Given the description of an element on the screen output the (x, y) to click on. 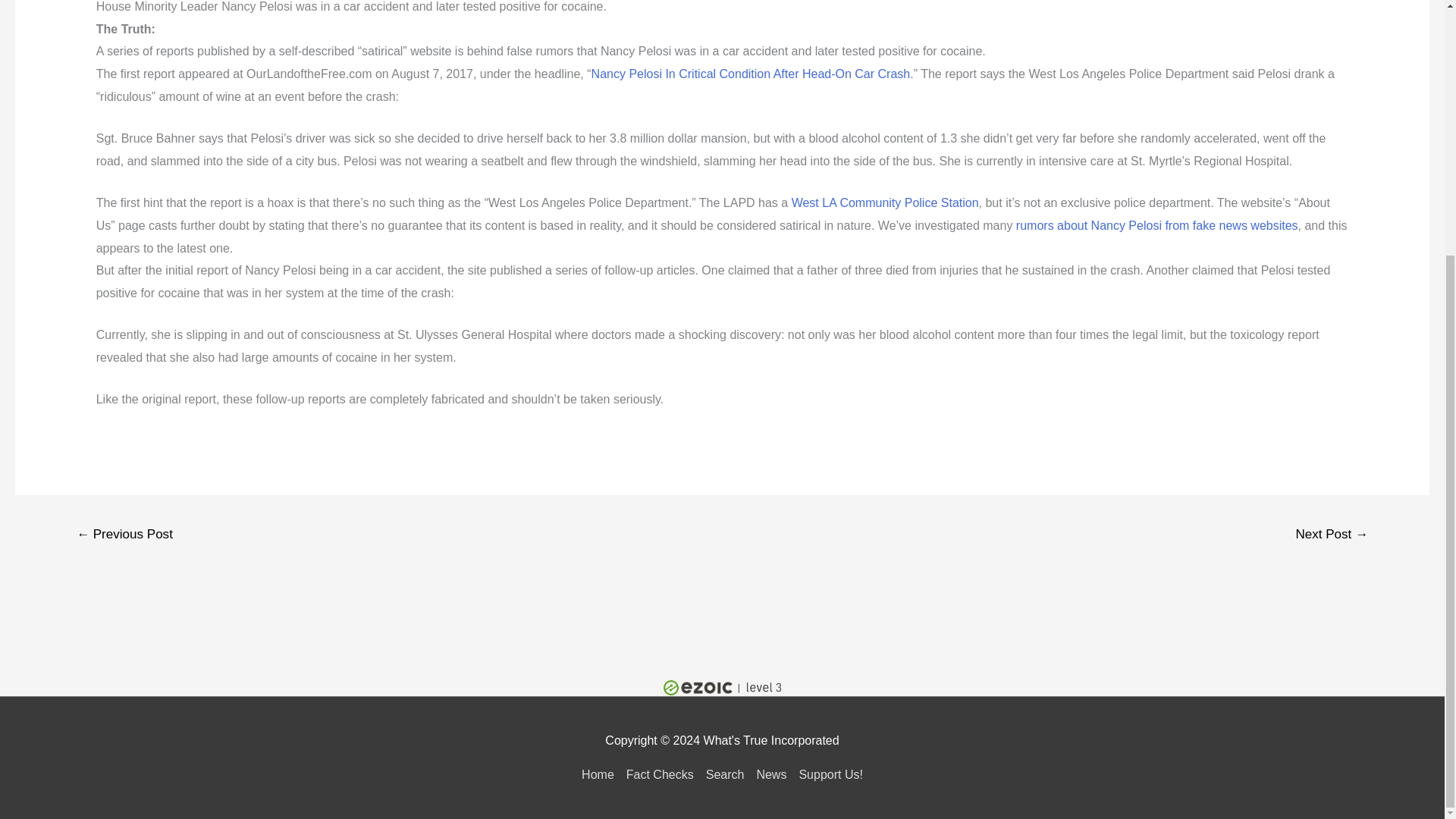
Fact Checks (660, 774)
Search (725, 774)
Nancy Pelosi In Critical Condition After Head-On Car Crash (751, 73)
Home (600, 774)
West LA Community Police Station (885, 202)
rumors about Nancy Pelosi from fake news websites (1157, 225)
News (770, 774)
Support Us! (826, 774)
